Given the description of an element on the screen output the (x, y) to click on. 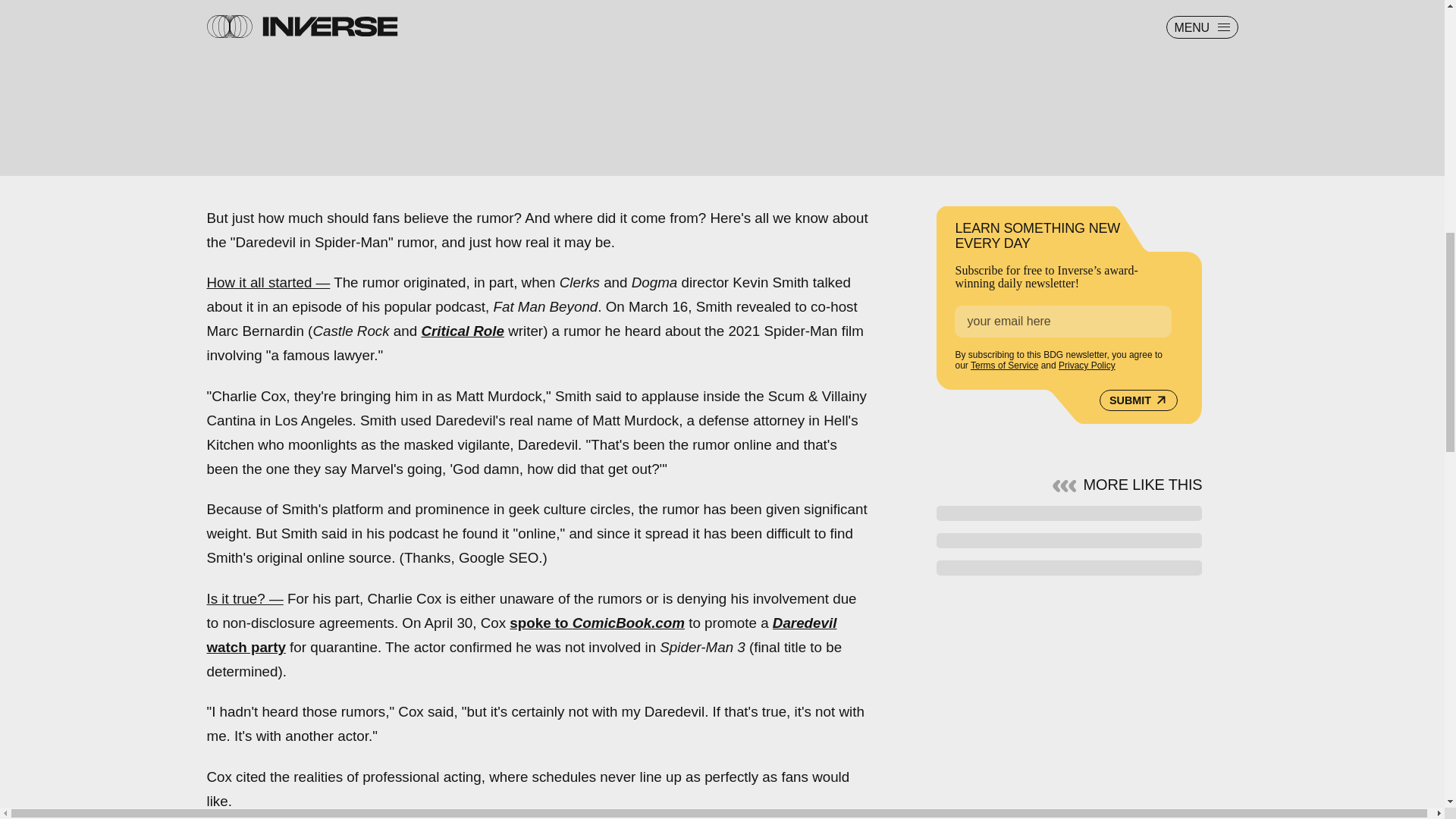
watch party (245, 647)
Daredevil (805, 622)
SUBMIT (1138, 400)
Critical Role (461, 330)
Terms of Service (1004, 365)
Privacy Policy (1086, 365)
spoke to (540, 622)
ComicBook.com (628, 622)
